Given the description of an element on the screen output the (x, y) to click on. 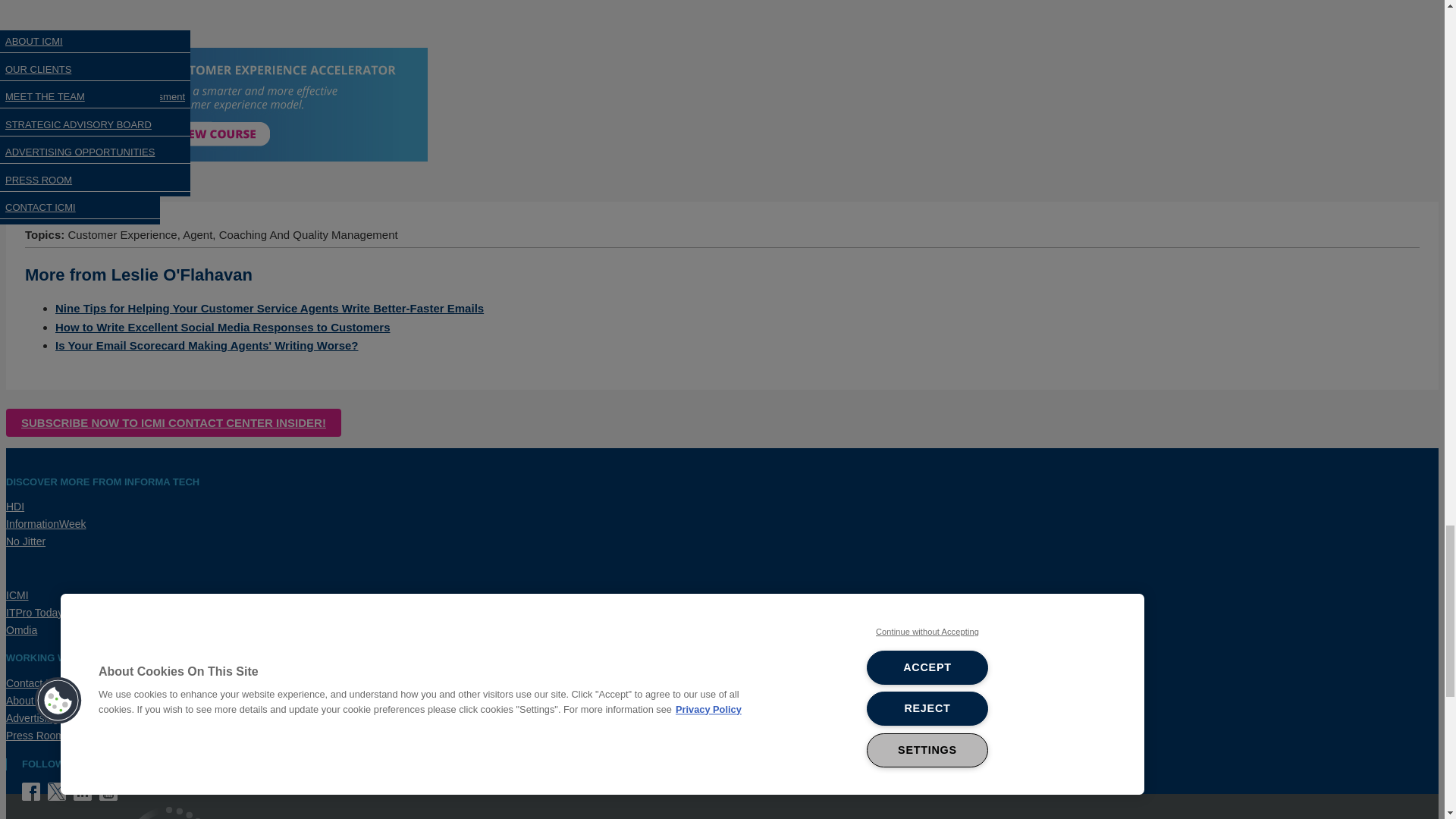
Contact Us (31, 683)
Informationweek (45, 523)
ITPro Today (33, 612)
ICMI (17, 594)
No Jitter (25, 541)
HDI (14, 506)
Press (34, 735)
Advertising (31, 717)
Omdia (21, 630)
About ICMI (27, 700)
